Given the description of an element on the screen output the (x, y) to click on. 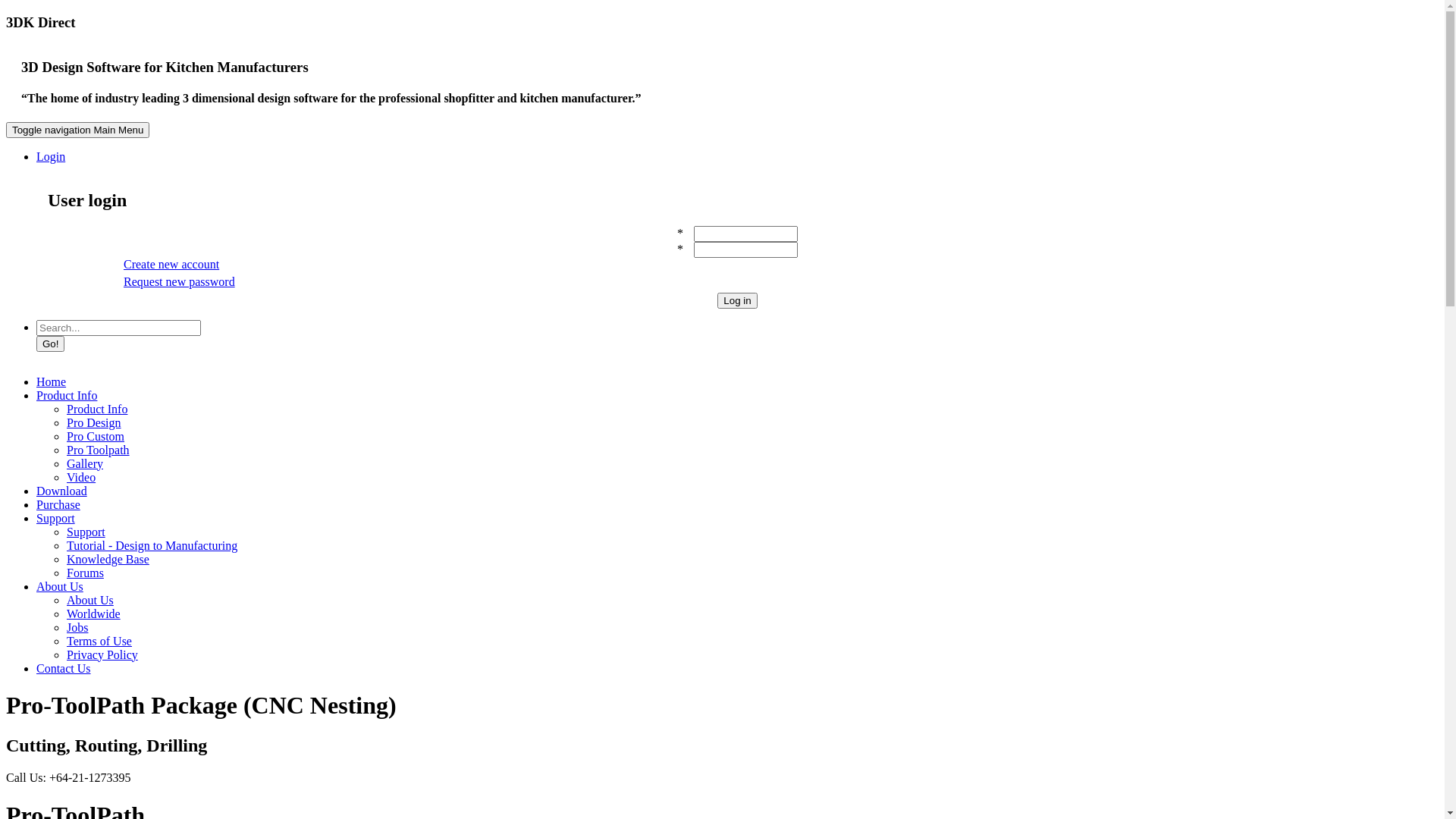
Product Info Element type: text (96, 407)
Forums Element type: text (84, 571)
Privacy Policy Element type: text (102, 653)
Request new password Element type: text (179, 280)
Toggle navigation Main Menu Element type: text (77, 130)
Support Element type: text (55, 517)
Video Element type: text (80, 476)
Log in Element type: text (736, 300)
Enter the terms you wish to search for. Element type: hover (118, 327)
About Us Element type: text (89, 599)
Jobs Element type: text (76, 626)
Download Element type: text (61, 489)
Tutorial - Design to Manufacturing Element type: text (151, 544)
Pro Custom Element type: text (95, 435)
Terms of Use Element type: text (98, 639)
Create new account Element type: text (171, 263)
Gallery Element type: text (84, 462)
Worldwide Element type: text (93, 612)
Knowledge Base Element type: text (107, 558)
Product Info Element type: text (66, 394)
Pro Design Element type: text (93, 421)
About Us Element type: text (59, 585)
Go! Element type: text (50, 343)
Login Element type: text (50, 156)
Pro Toolpath Element type: text (97, 448)
Support Element type: text (85, 530)
Contact Us Element type: text (63, 667)
Home Element type: text (50, 380)
Purchase Element type: text (58, 503)
